Given the description of an element on the screen output the (x, y) to click on. 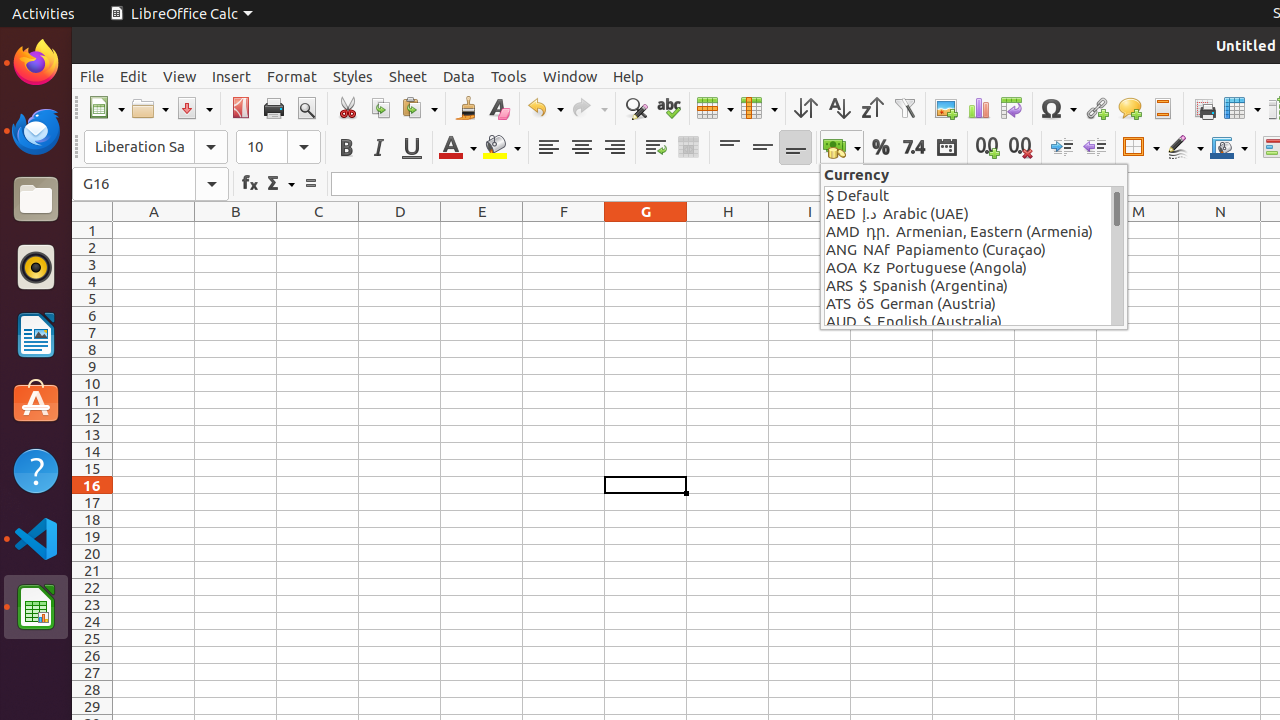
Borders (Shift to overwrite) Element type: push-button (1141, 147)
Chart Element type: push-button (978, 108)
Save Element type: push-button (194, 108)
Thunderbird Mail Element type: push-button (36, 131)
E1 Element type: table-cell (482, 230)
